Given the description of an element on the screen output the (x, y) to click on. 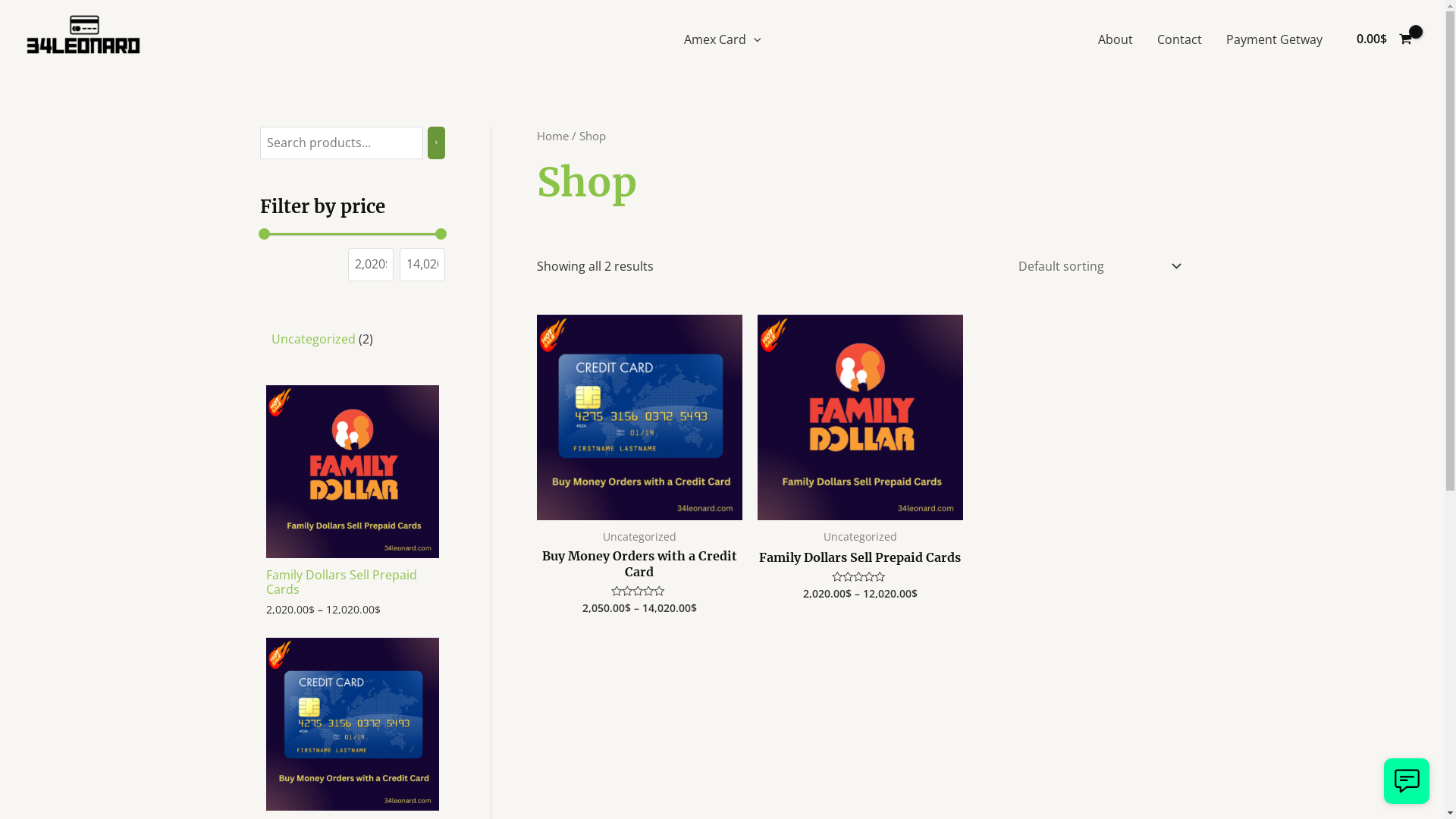
Buy Money Orders with a Credit Card Element type: text (639, 567)
Uncategorized Element type: text (313, 338)
Contact Element type: text (1179, 38)
0.00$ Element type: text (1383, 39)
Home Element type: text (552, 135)
Family Dollars Sell Prepaid Cards Element type: text (859, 560)
About Element type: text (1115, 38)
Family Dollars Sell Prepaid Cards Element type: text (351, 490)
Payment Getway Element type: text (1274, 38)
Amex Card Element type: text (722, 38)
wp-bit-assist Element type: hover (1406, 780)
